Given the description of an element on the screen output the (x, y) to click on. 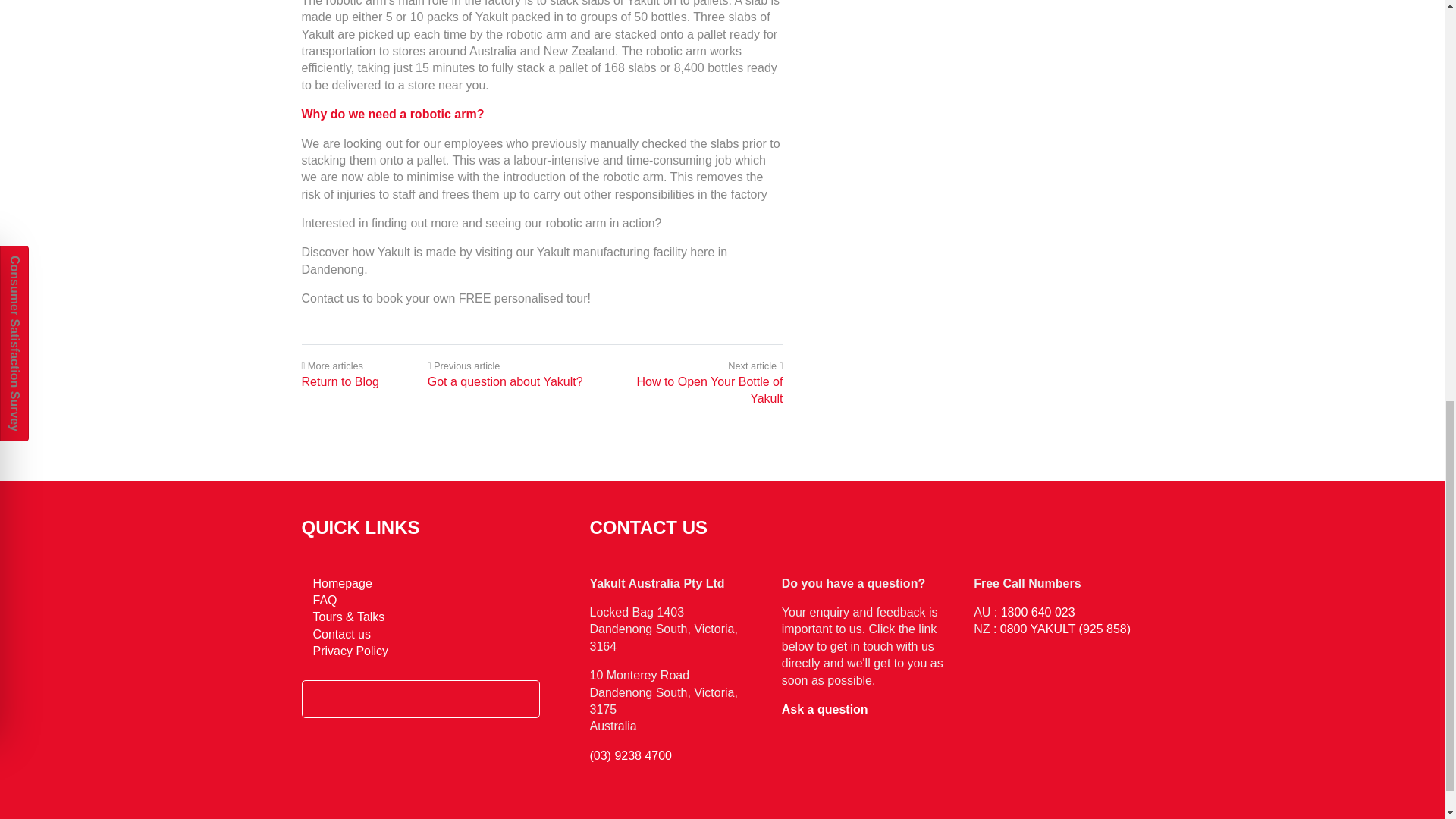
Return to Blog (339, 381)
Got a question about Yakult? (505, 381)
